Given the description of an element on the screen output the (x, y) to click on. 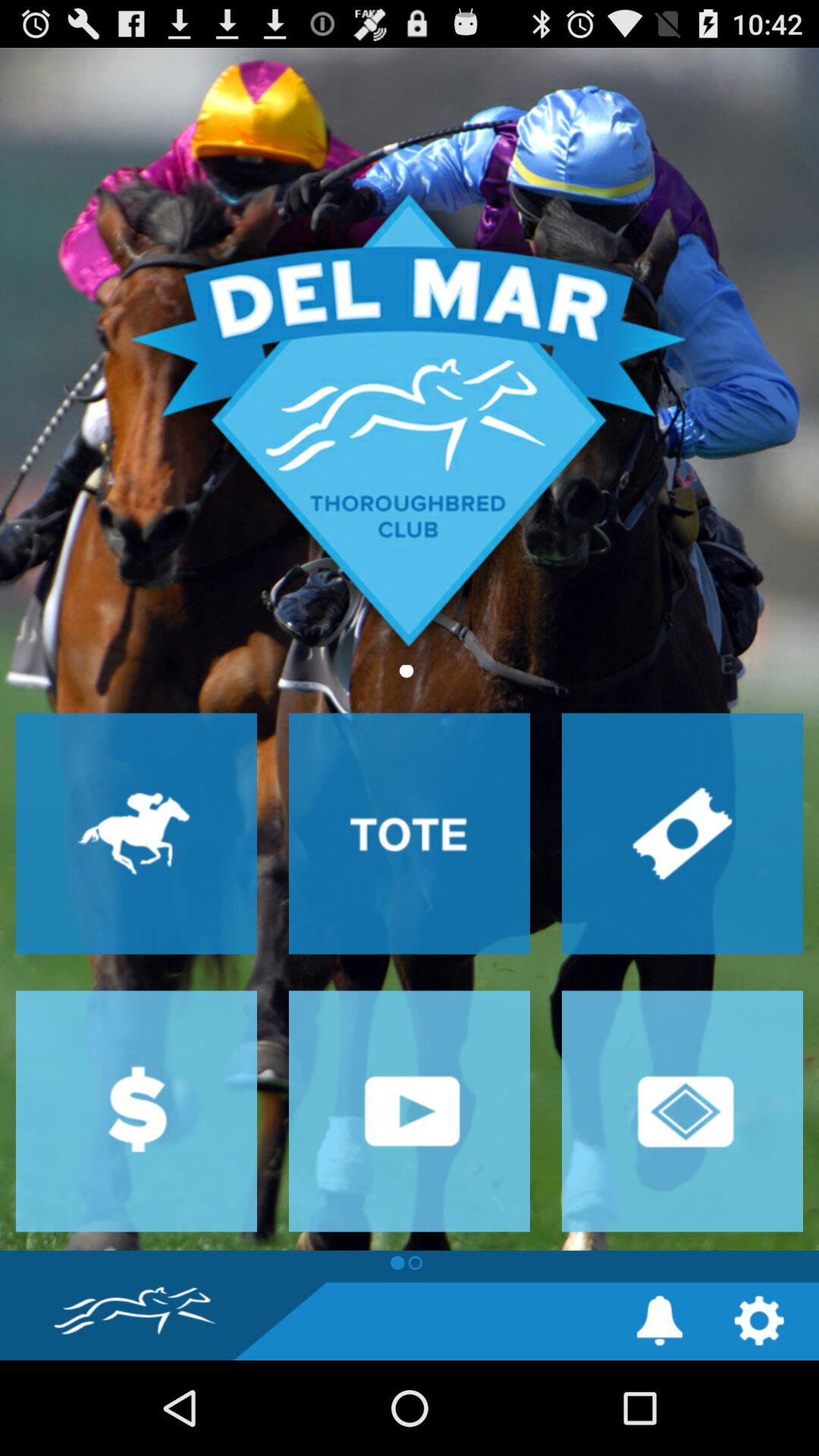
purchase tickets (682, 833)
